Given the description of an element on the screen output the (x, y) to click on. 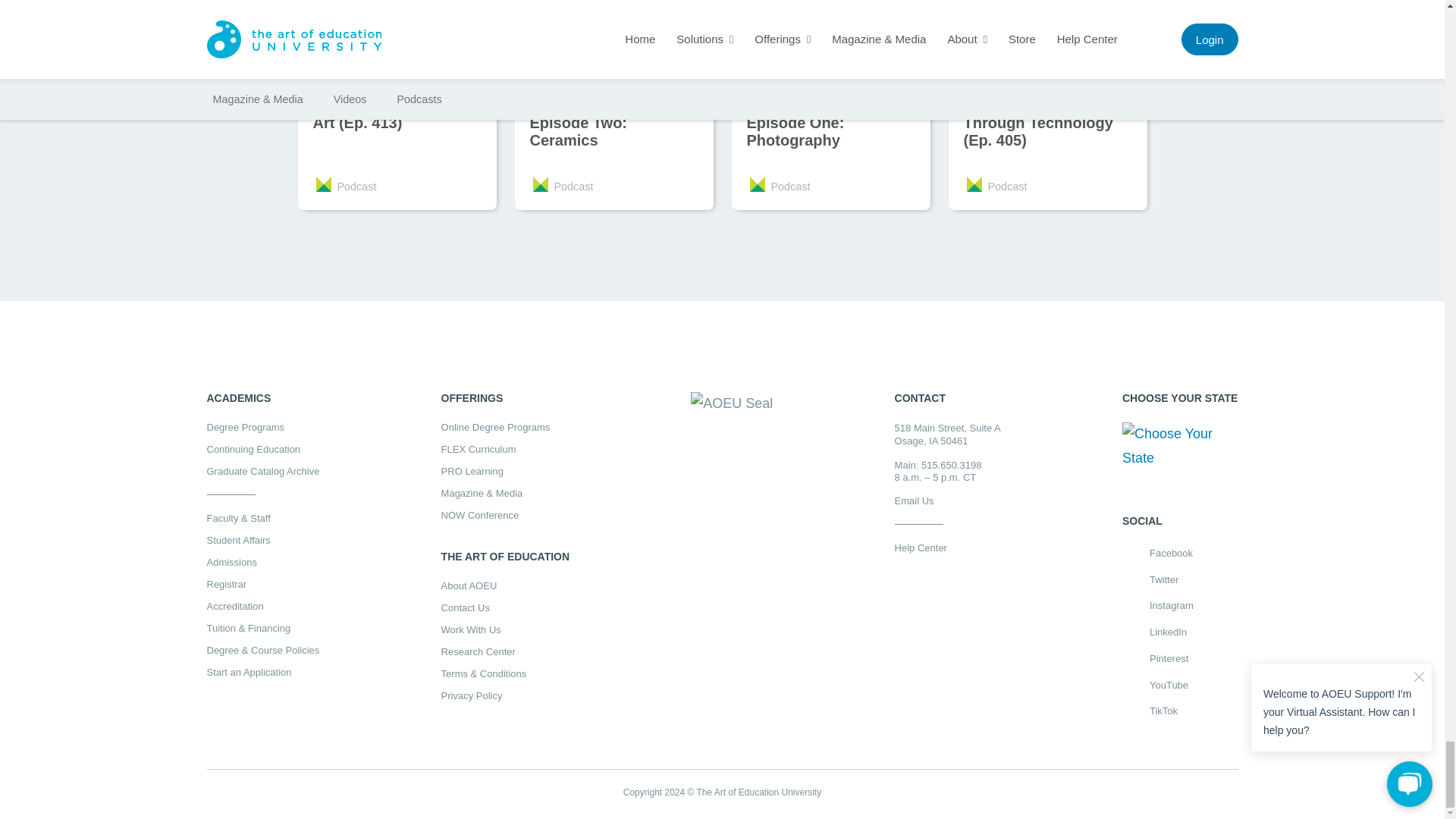
Continuing Education (262, 449)
Graduate Catalog Archive (262, 470)
PRO Learning (505, 470)
Admissions (262, 562)
Start an Application (262, 672)
NOW Conference (505, 515)
Student Affairs (262, 540)
Accreditation (262, 605)
Degree Programs (262, 427)
FLEX Curriculum (505, 449)
Registrar (262, 583)
Online Degree Programs (505, 427)
